Given the description of an element on the screen output the (x, y) to click on. 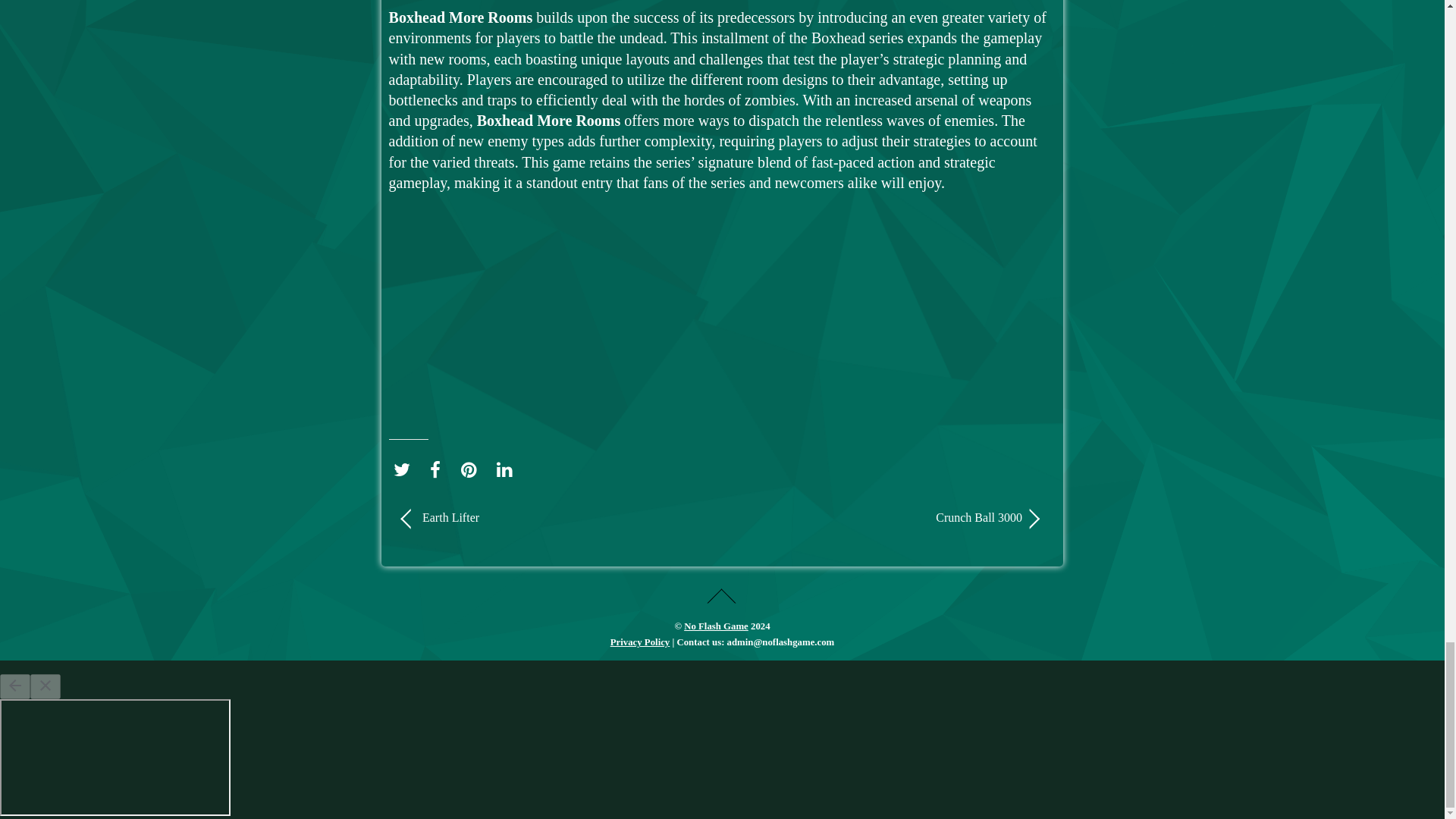
No Flash Game (716, 625)
Privacy Policy (639, 642)
Pinterest (472, 469)
LinkedIn (507, 469)
Twitter (405, 469)
